Given the description of an element on the screen output the (x, y) to click on. 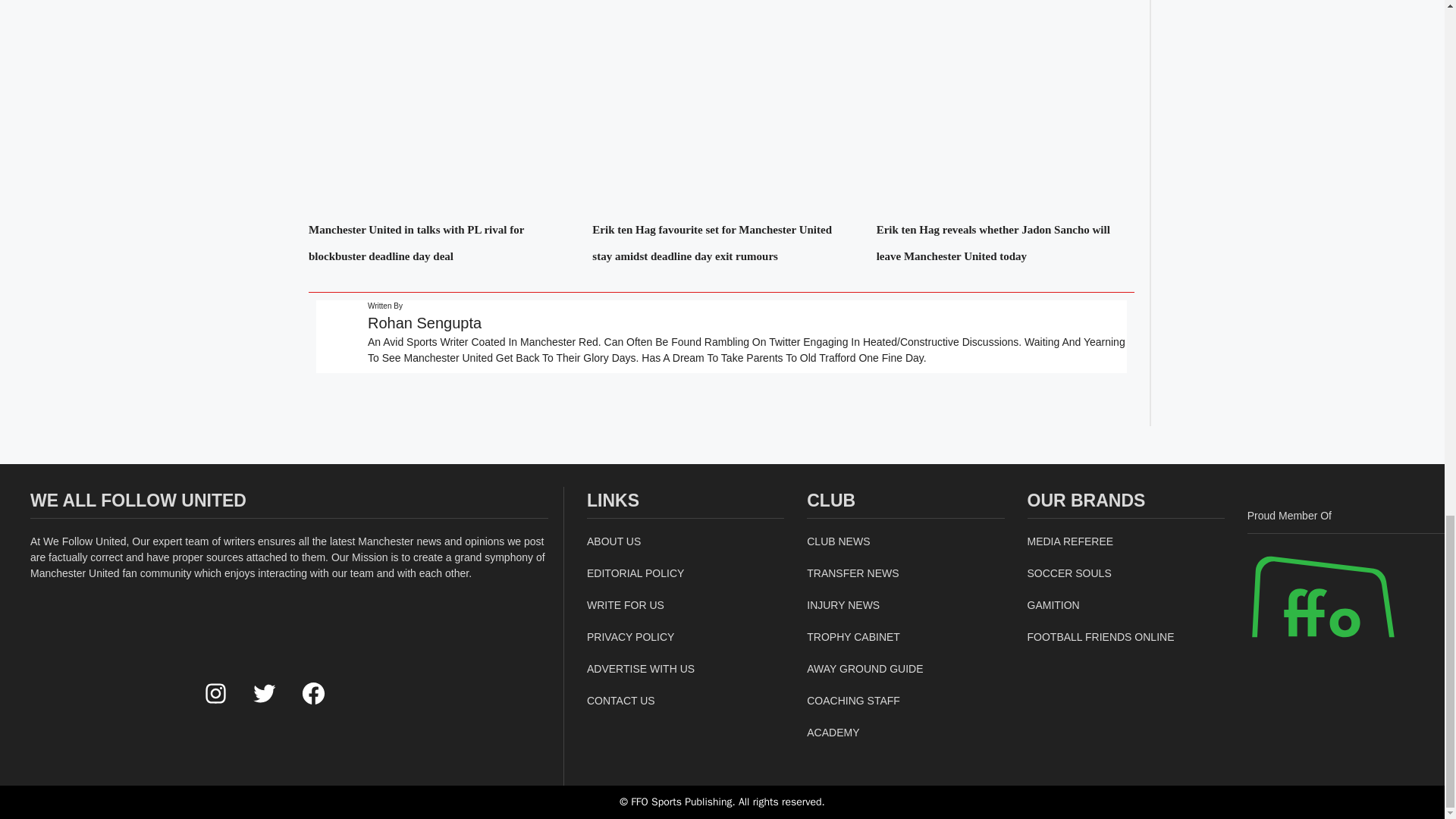
cropped-cropped-Man-Logo4-4.png (105, 687)
